Given the description of an element on the screen output the (x, y) to click on. 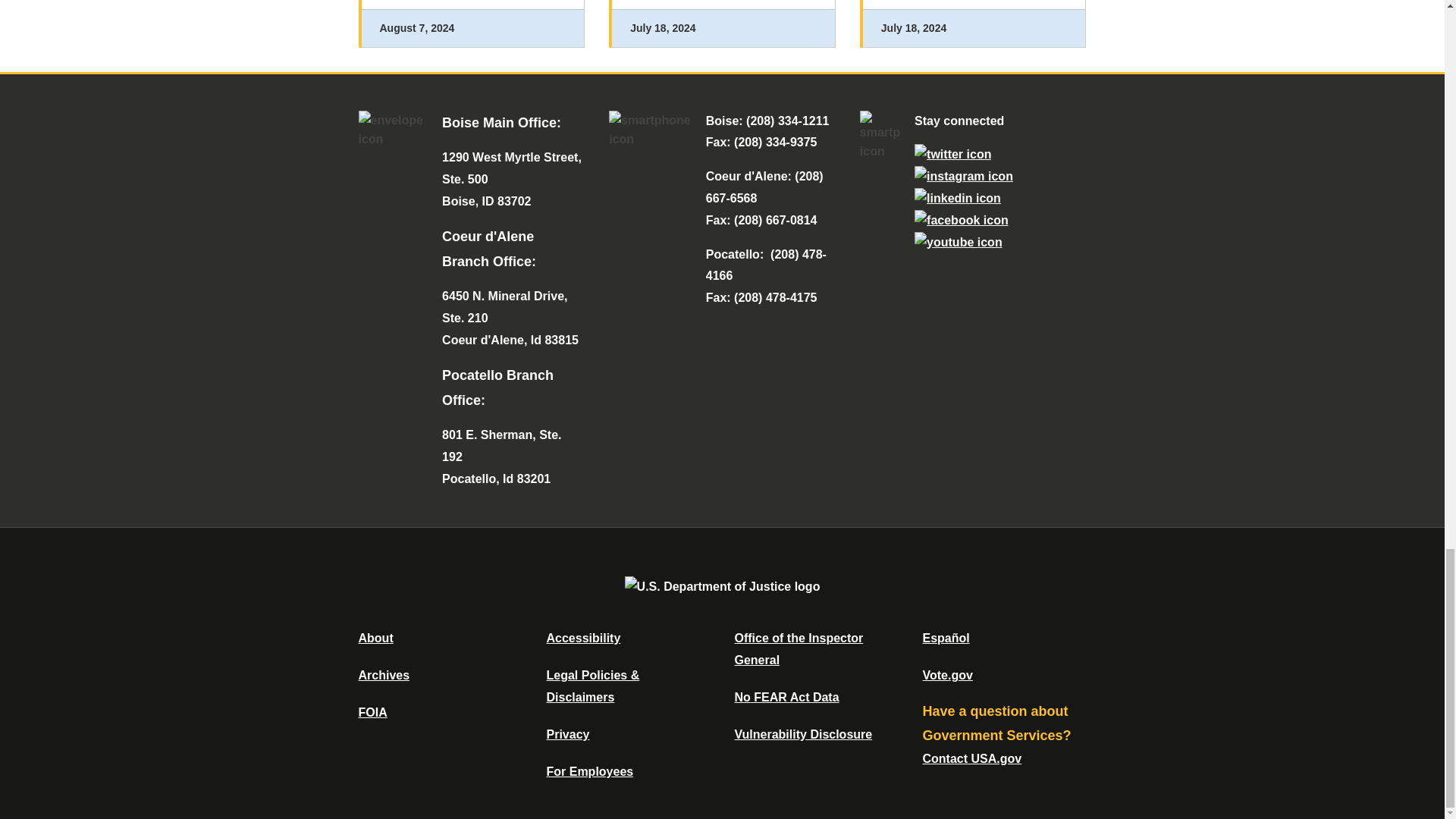
Office of Information Policy (372, 712)
Accessibility Statement (583, 637)
Department of Justice Archive (383, 675)
Legal Policies and Disclaimers (592, 686)
About DOJ (375, 637)
For Employees (589, 771)
Data Posted Pursuant To The No Fear Act (785, 697)
